Given the description of an element on the screen output the (x, y) to click on. 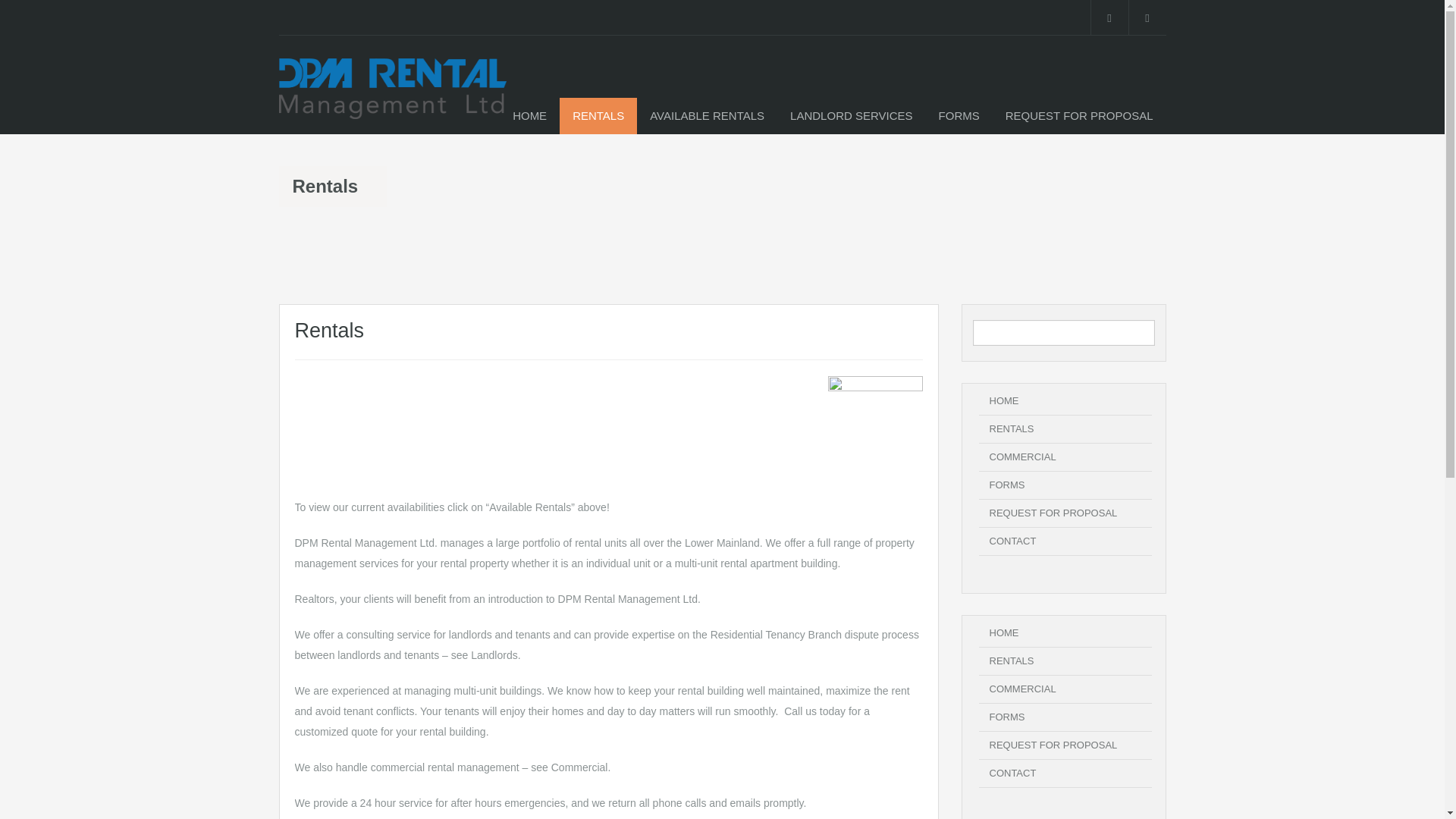
FORMS (1006, 716)
FORMS (959, 115)
RENTALS (1010, 428)
REQUEST FOR PROPOSAL (1052, 512)
DPM Management (392, 96)
RENTALS (1010, 660)
FORMS (1006, 484)
Search (1141, 332)
REQUEST FOR PROPOSAL (1052, 745)
CONTACT (1011, 541)
